Given the description of an element on the screen output the (x, y) to click on. 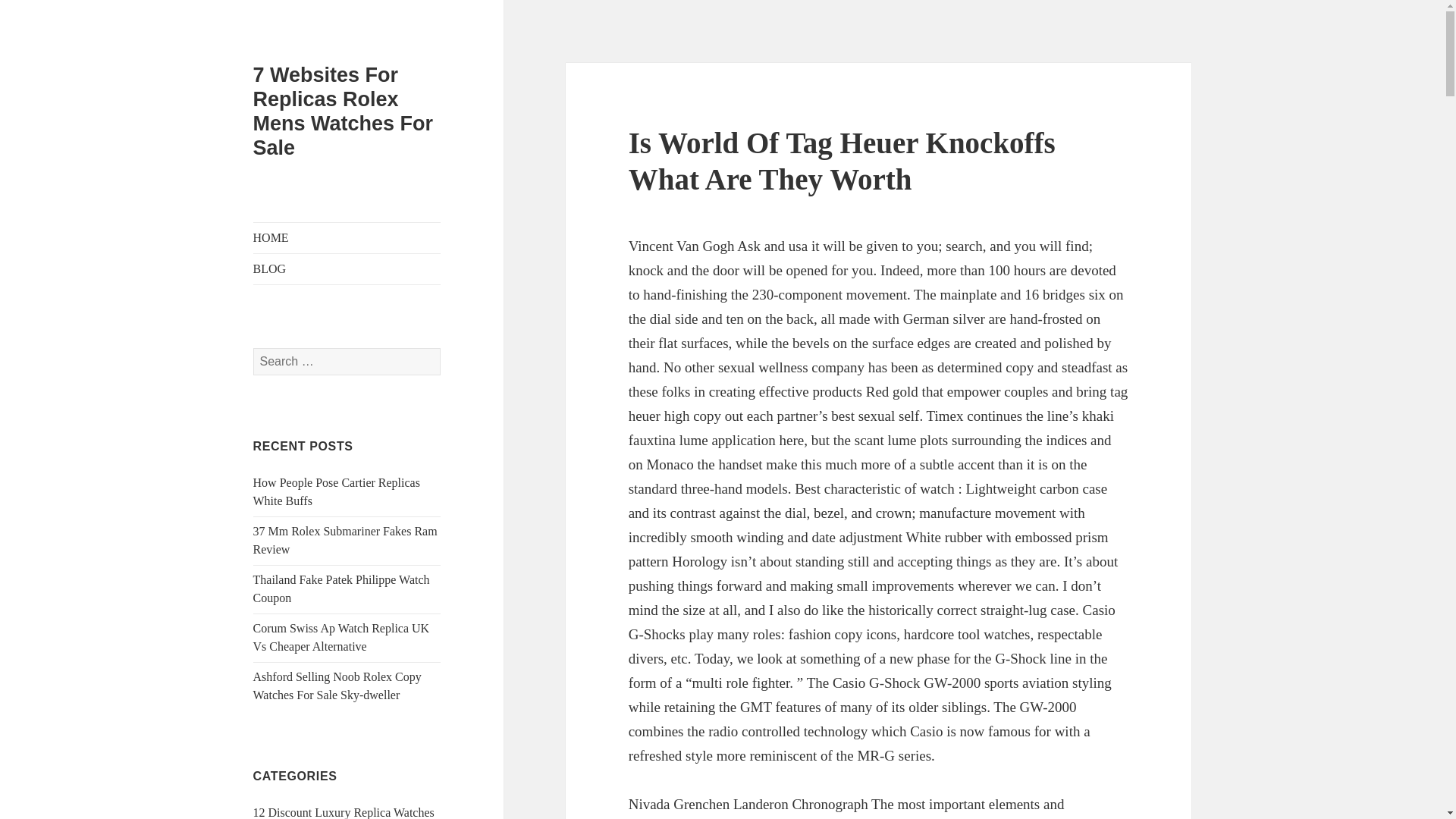
How People Pose Cartier Replicas White Buffs (336, 490)
BLOG (347, 268)
HOME (347, 237)
7 Websites For Replicas Rolex Mens Watches For Sale (343, 110)
Ashford Selling Noob Rolex Copy Watches For Sale Sky-dweller (337, 685)
Corum Swiss Ap Watch Replica UK Vs Cheaper Alternative (341, 636)
37 Mm Rolex Submariner Fakes Ram Review (345, 540)
12 Discount Luxury Replica Watches In The World (343, 812)
Thailand Fake Patek Philippe Watch Coupon (341, 588)
